Given the description of an element on the screen output the (x, y) to click on. 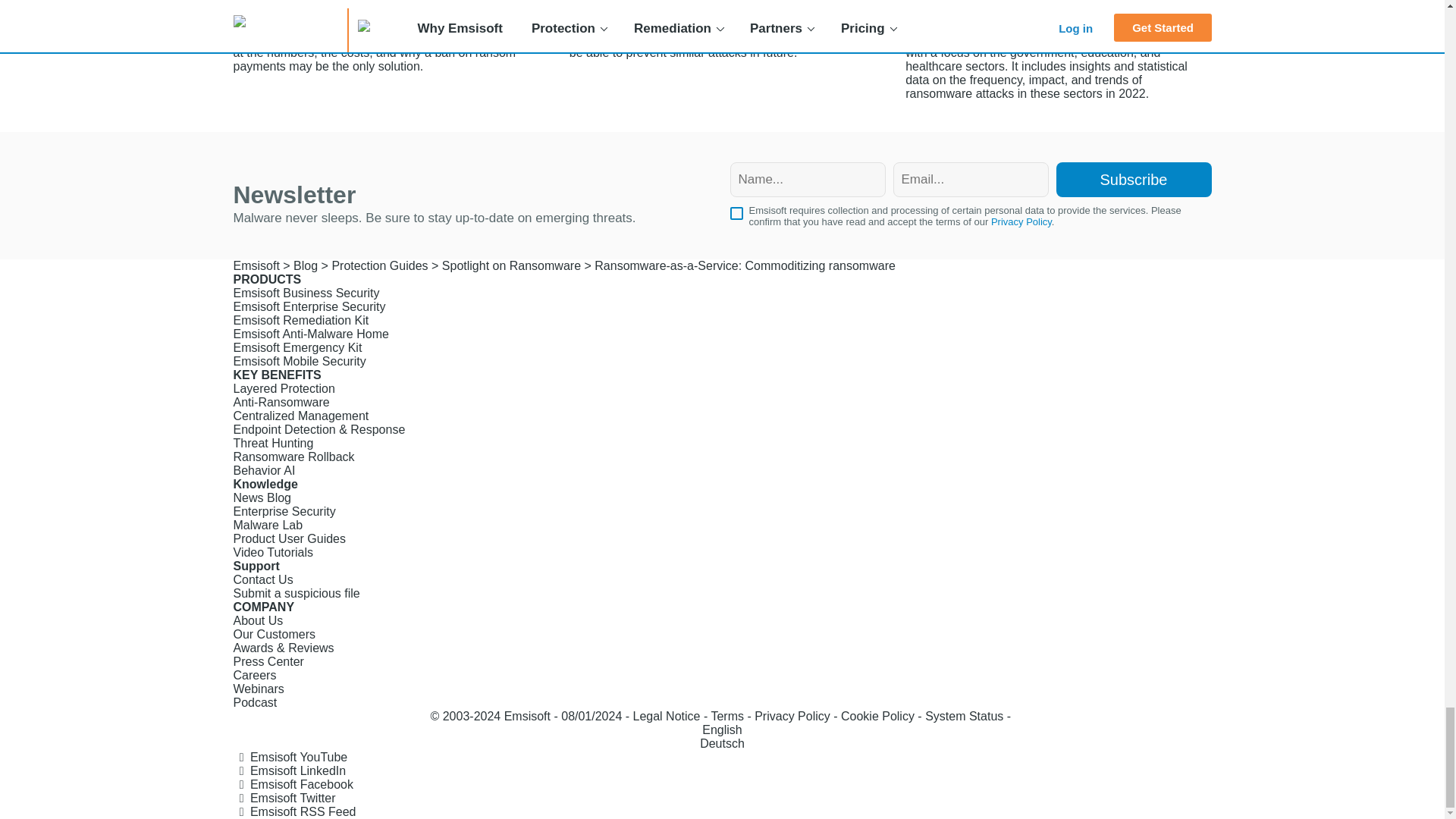
Read more... (722, 29)
Read more... (385, 36)
Read more... (1058, 50)
